Given the description of an element on the screen output the (x, y) to click on. 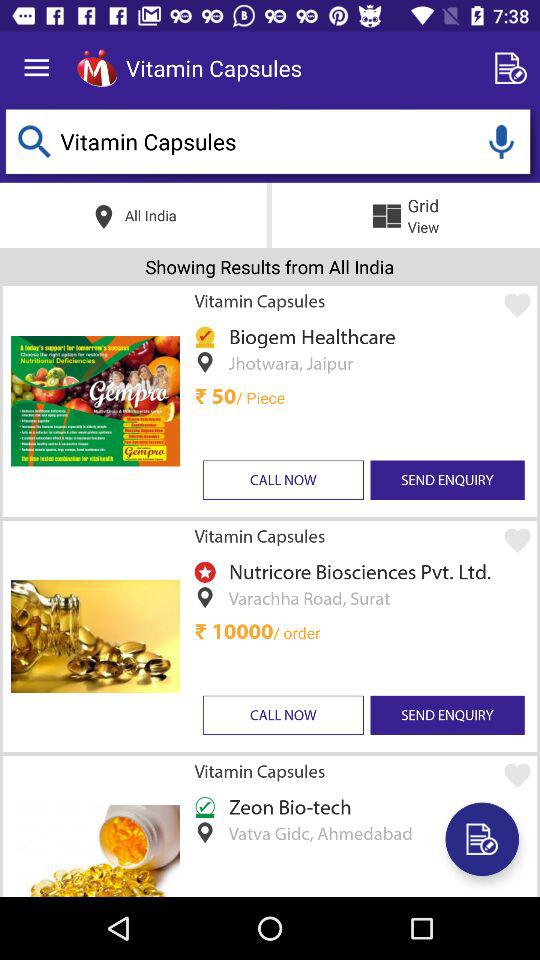
select the icon next to the vitamin capsules (514, 68)
